Given the description of an element on the screen output the (x, y) to click on. 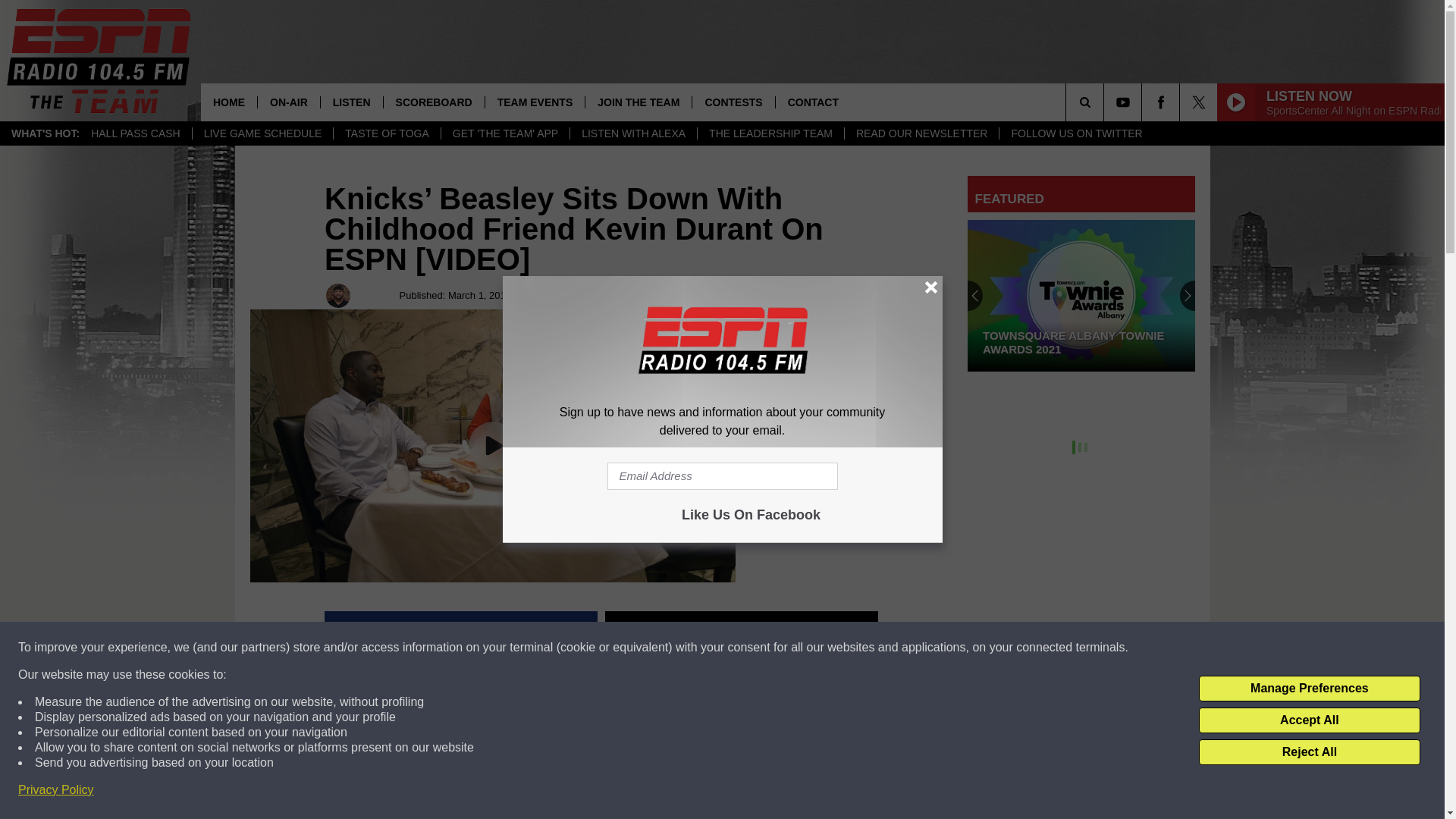
READ OUR NEWSLETTER (921, 133)
JOIN THE TEAM (638, 102)
CONTESTS (732, 102)
SEARCH (1106, 102)
Manage Preferences (1309, 688)
LISTEN (351, 102)
ON-AIR (288, 102)
Share on Facebook (460, 629)
SCOREBOARD (433, 102)
HOME (228, 102)
TEAM EVENTS (534, 102)
Share on Twitter (741, 629)
HALL PASS CASH (136, 133)
Email Address (722, 475)
LISTEN WITH ALEXA (633, 133)
